Given the description of an element on the screen output the (x, y) to click on. 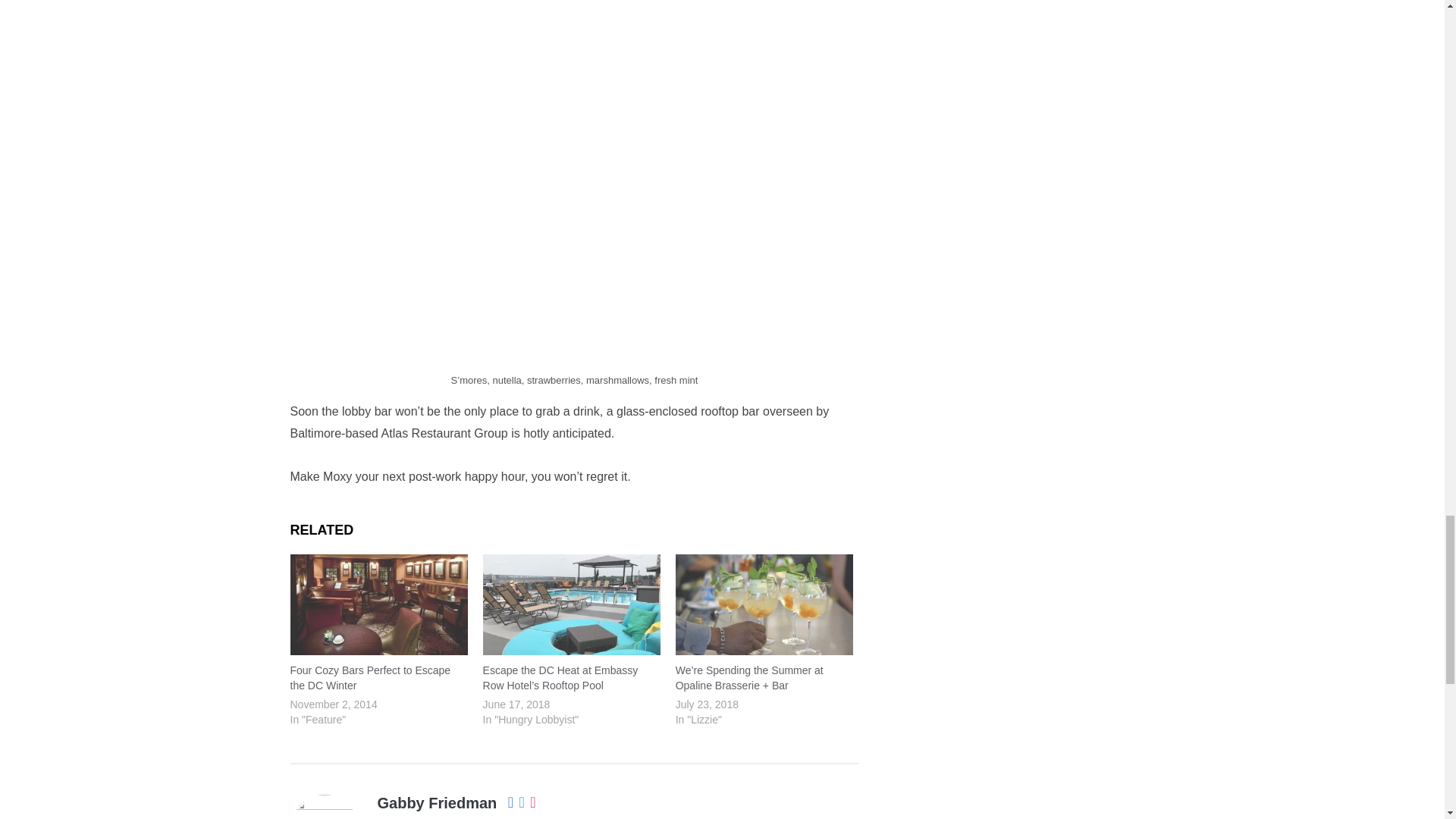
Four Cozy Bars Perfect to Escape the DC Winter (378, 605)
Four Cozy Bars Perfect to Escape the DC Winter (369, 677)
